Given the description of an element on the screen output the (x, y) to click on. 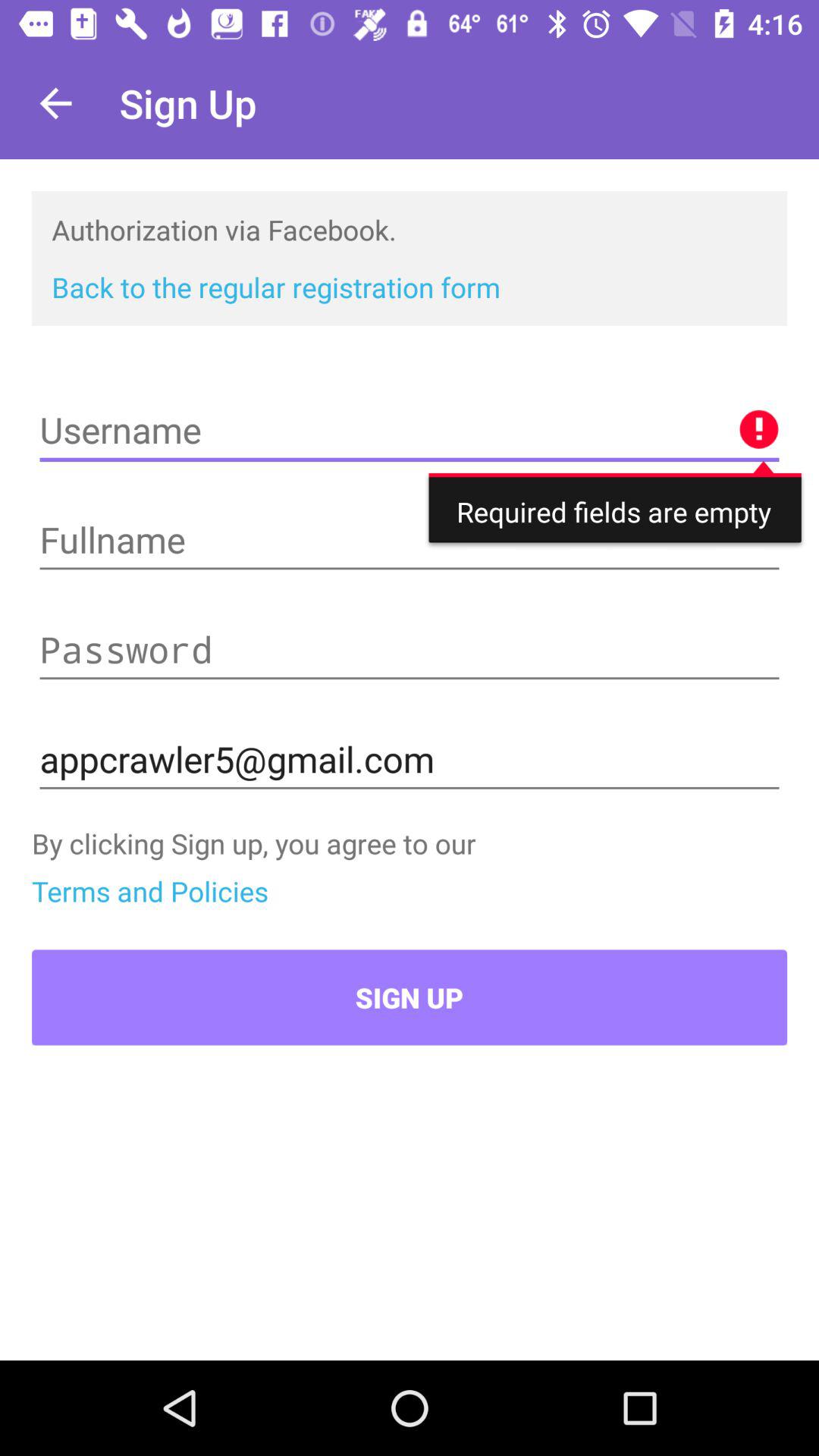
text area (409, 430)
